Given the description of an element on the screen output the (x, y) to click on. 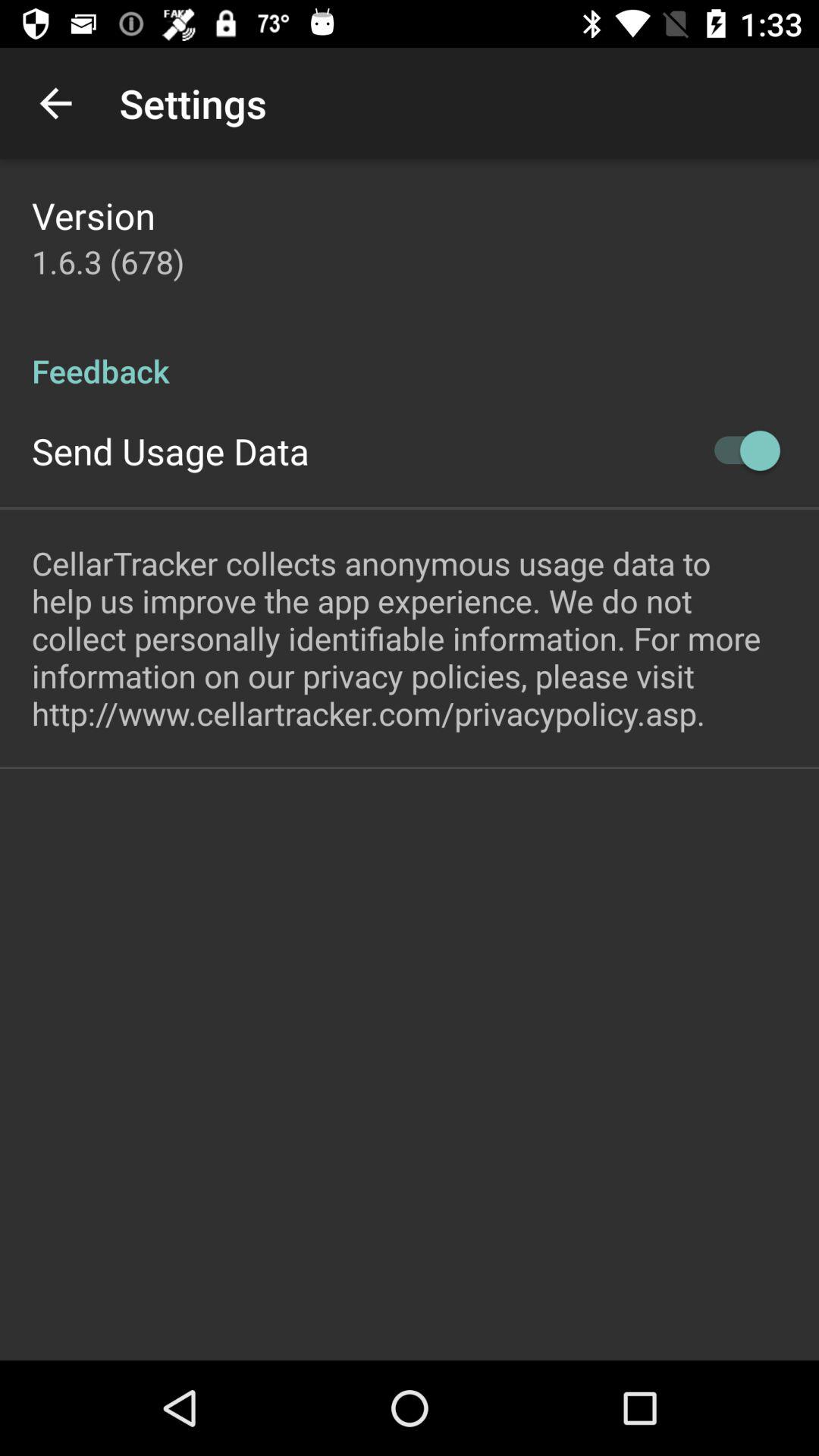
press 1 6 3 app (107, 261)
